Given the description of an element on the screen output the (x, y) to click on. 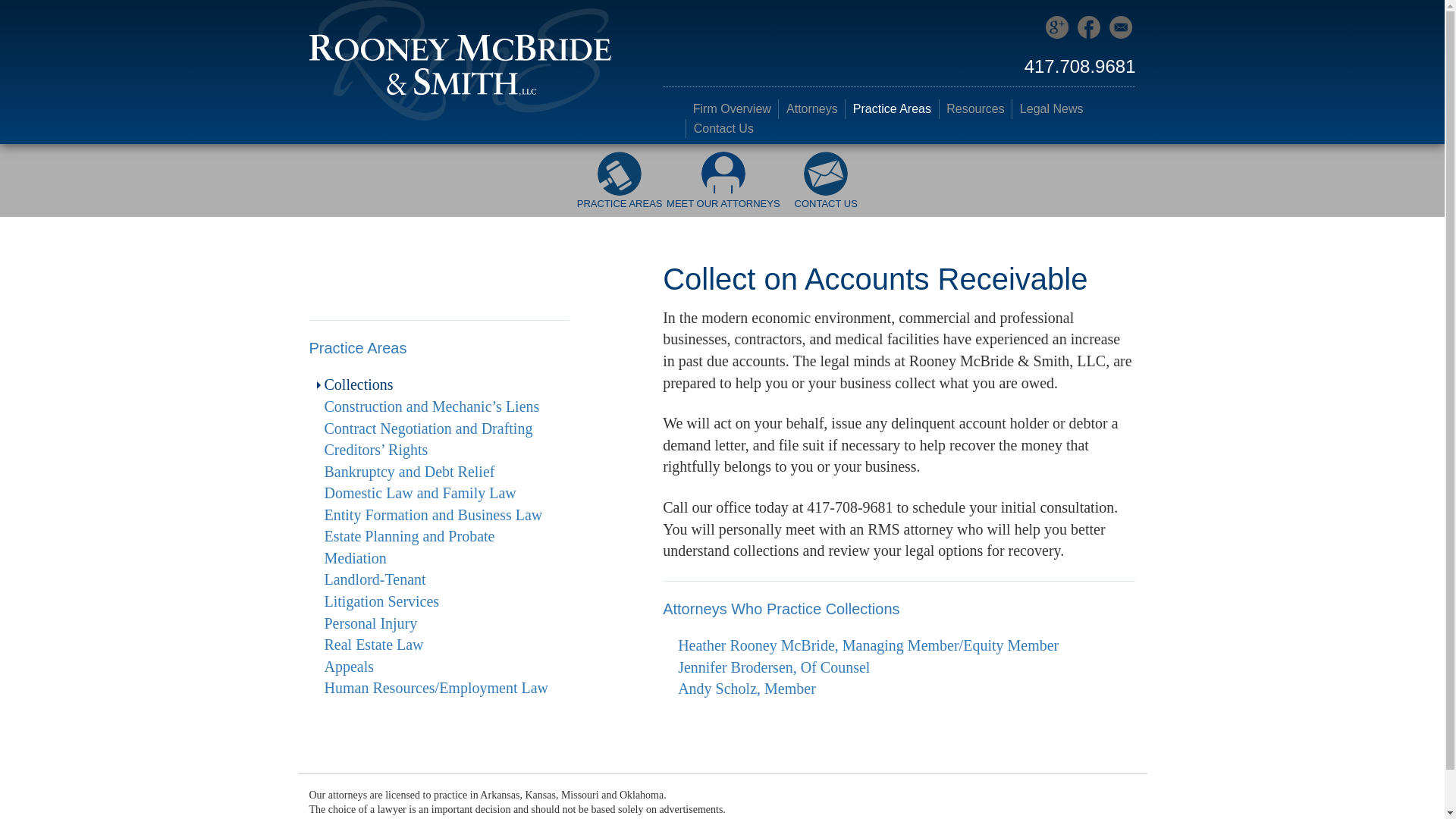
PRACTICE AREAS (619, 188)
Firm Overview (731, 108)
Personal Injury (370, 623)
Firm Overview (731, 108)
Entity Formation and Business Law (433, 514)
RMSAttorneys.com home page (459, 59)
Contact Us (722, 128)
Estate Planning and Probate (409, 535)
Collections (358, 384)
Attorneys (811, 108)
Domestic Law and Family Law (420, 492)
Andy Scholz, Member (746, 688)
CONTACT US (825, 188)
Resources (975, 108)
Contract Negotiation and Drafting (428, 428)
